Given the description of an element on the screen output the (x, y) to click on. 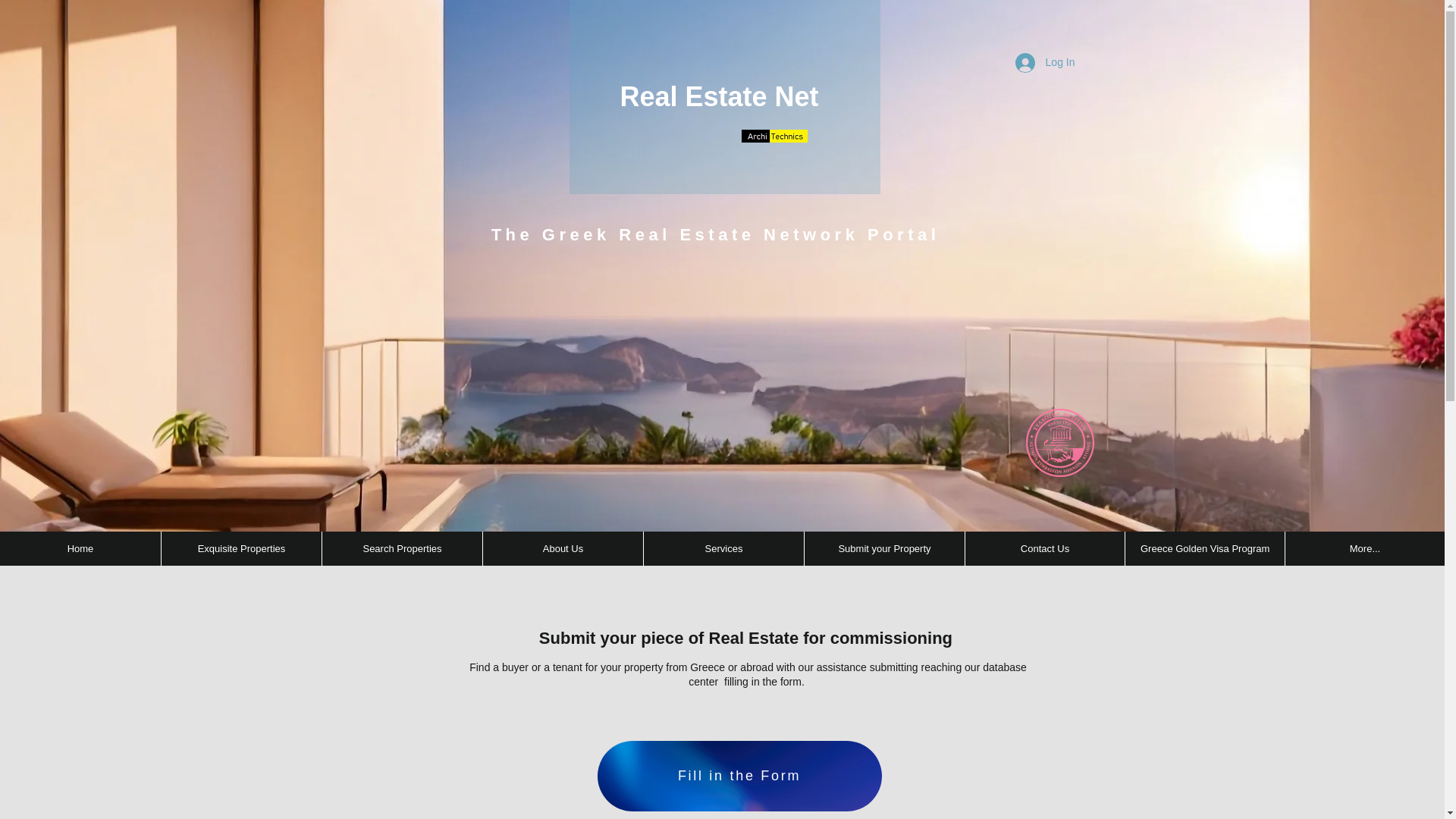
Search Properties (401, 548)
Fill in the Form (739, 776)
About Us (562, 548)
Home (80, 548)
Contact Us (1043, 548)
Greece Golden Visa Program (1204, 548)
Submit your Property (883, 548)
Services (723, 548)
Log In (1045, 62)
Exquisite Properties (240, 548)
